Given the description of an element on the screen output the (x, y) to click on. 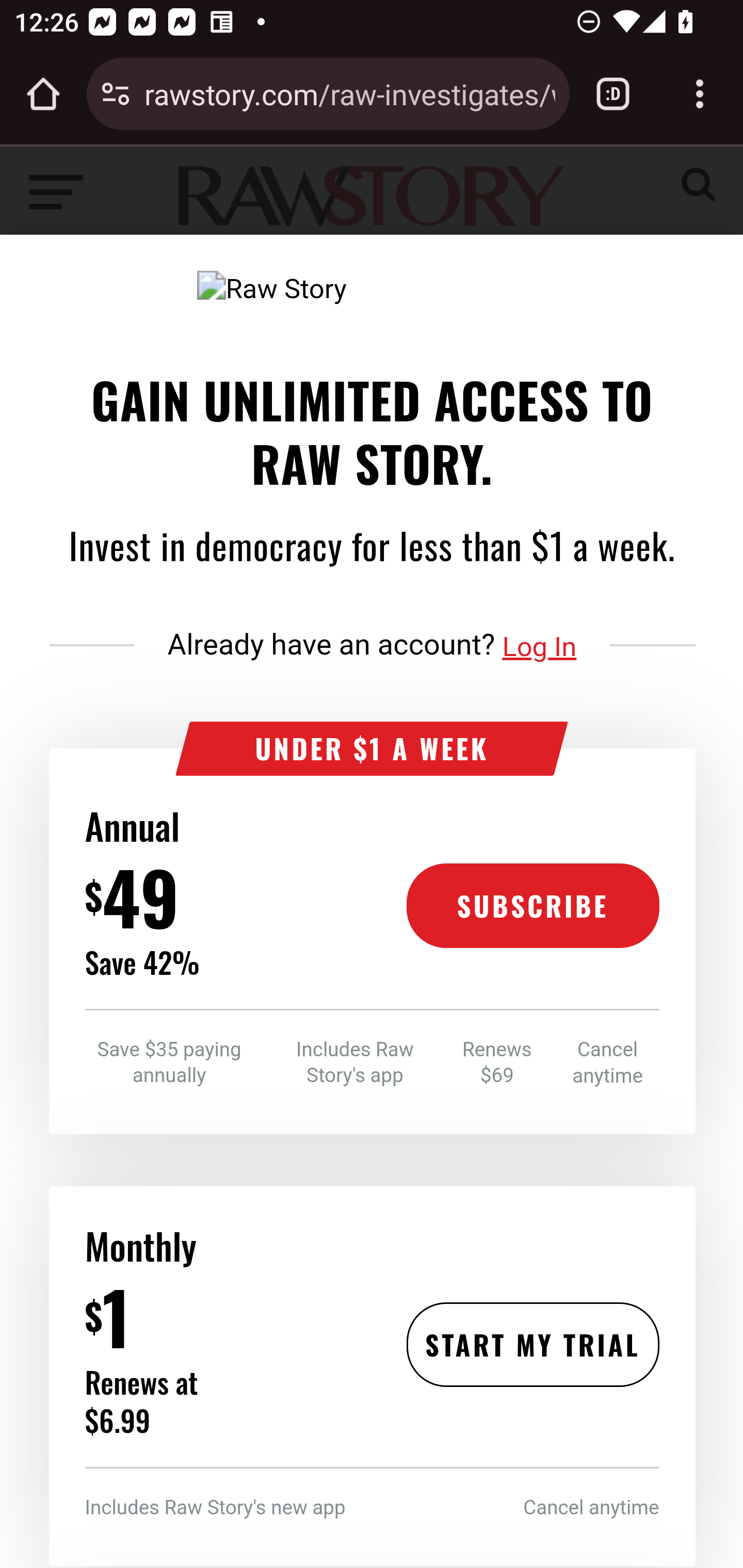
Open the home page (43, 93)
Connection is secure (115, 93)
Switch or close tabs (612, 93)
Customize and control Google Chrome (699, 93)
Log In (540, 646)
SUBSCRIBE (532, 906)
START MY TRIAL (532, 1344)
